Given the description of an element on the screen output the (x, y) to click on. 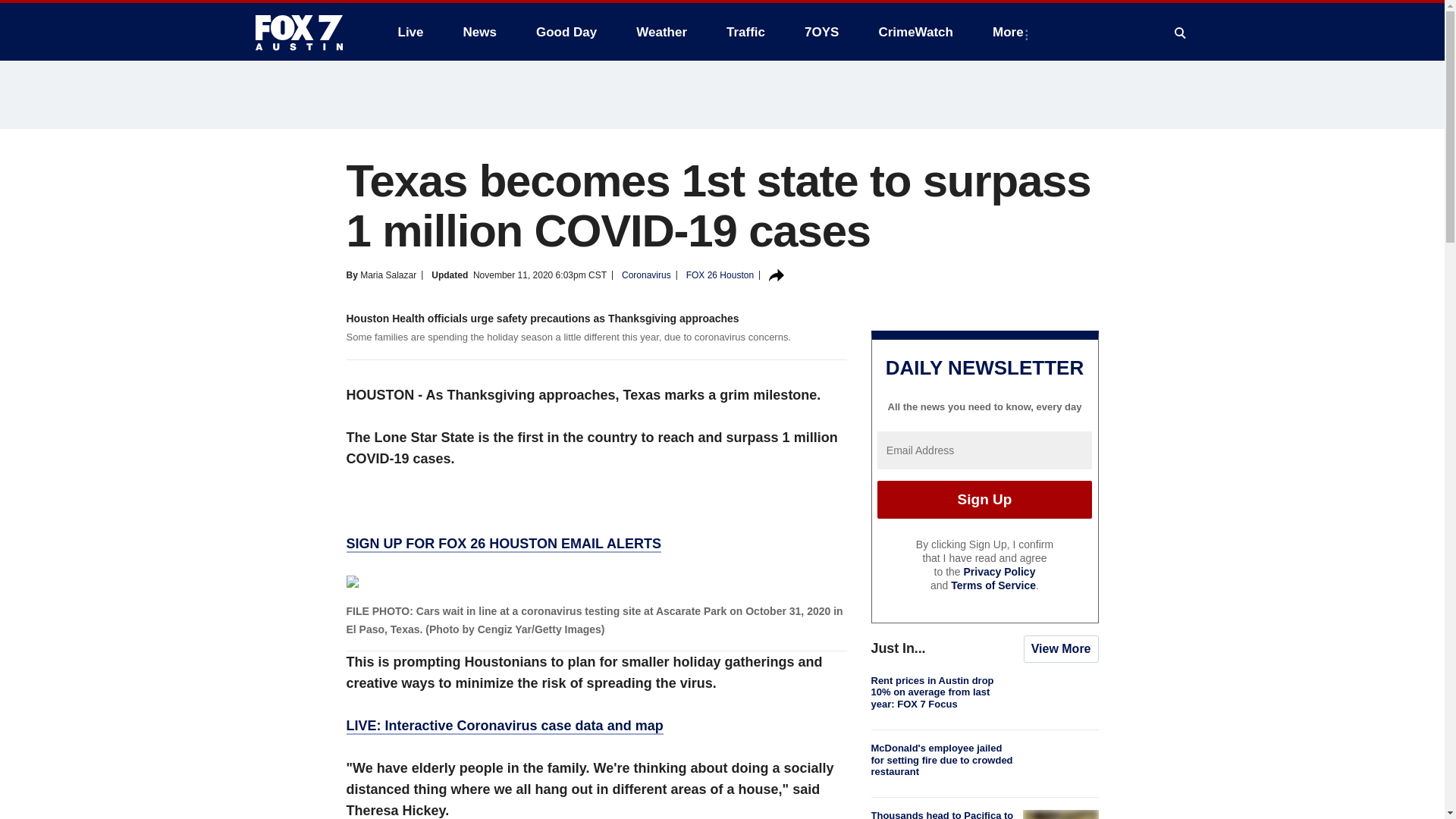
CrimeWatch (915, 32)
Traffic (745, 32)
Weather (661, 32)
Good Day (566, 32)
Sign Up (984, 499)
Live (410, 32)
7OYS (821, 32)
News (479, 32)
More (1010, 32)
